Given the description of an element on the screen output the (x, y) to click on. 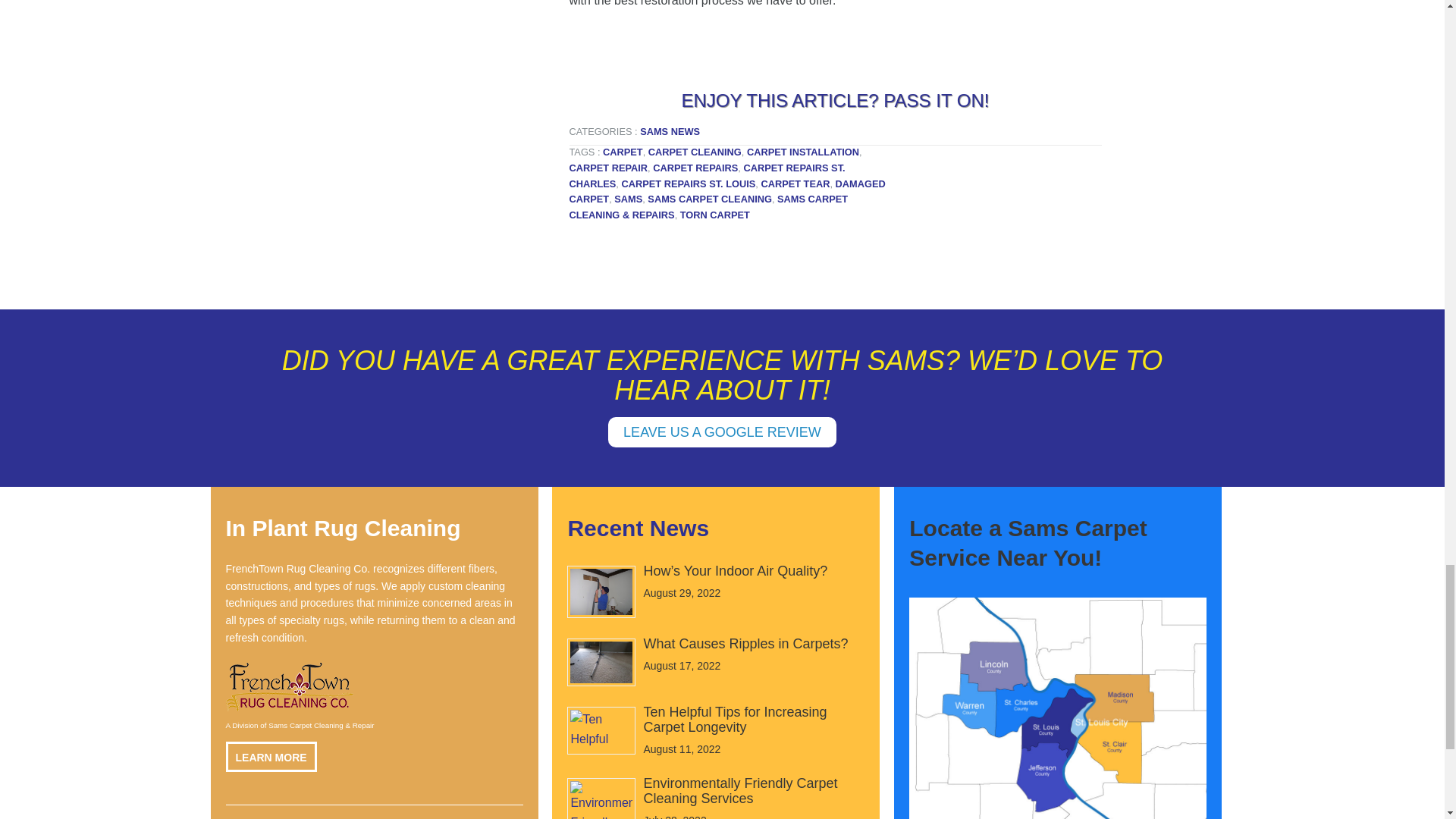
SAMS NEWS (670, 131)
